Given the description of an element on the screen output the (x, y) to click on. 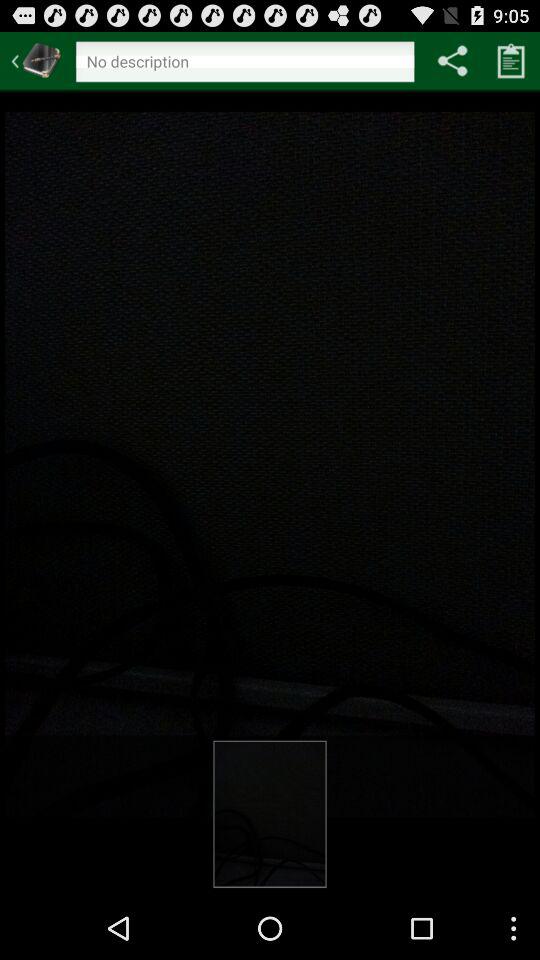
go back (36, 60)
